Given the description of an element on the screen output the (x, y) to click on. 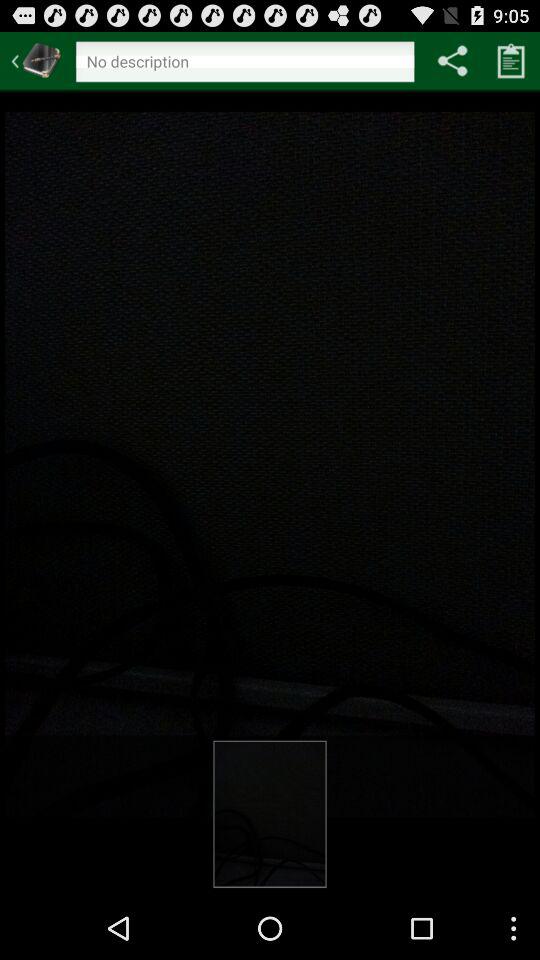
go back (36, 60)
